Given the description of an element on the screen output the (x, y) to click on. 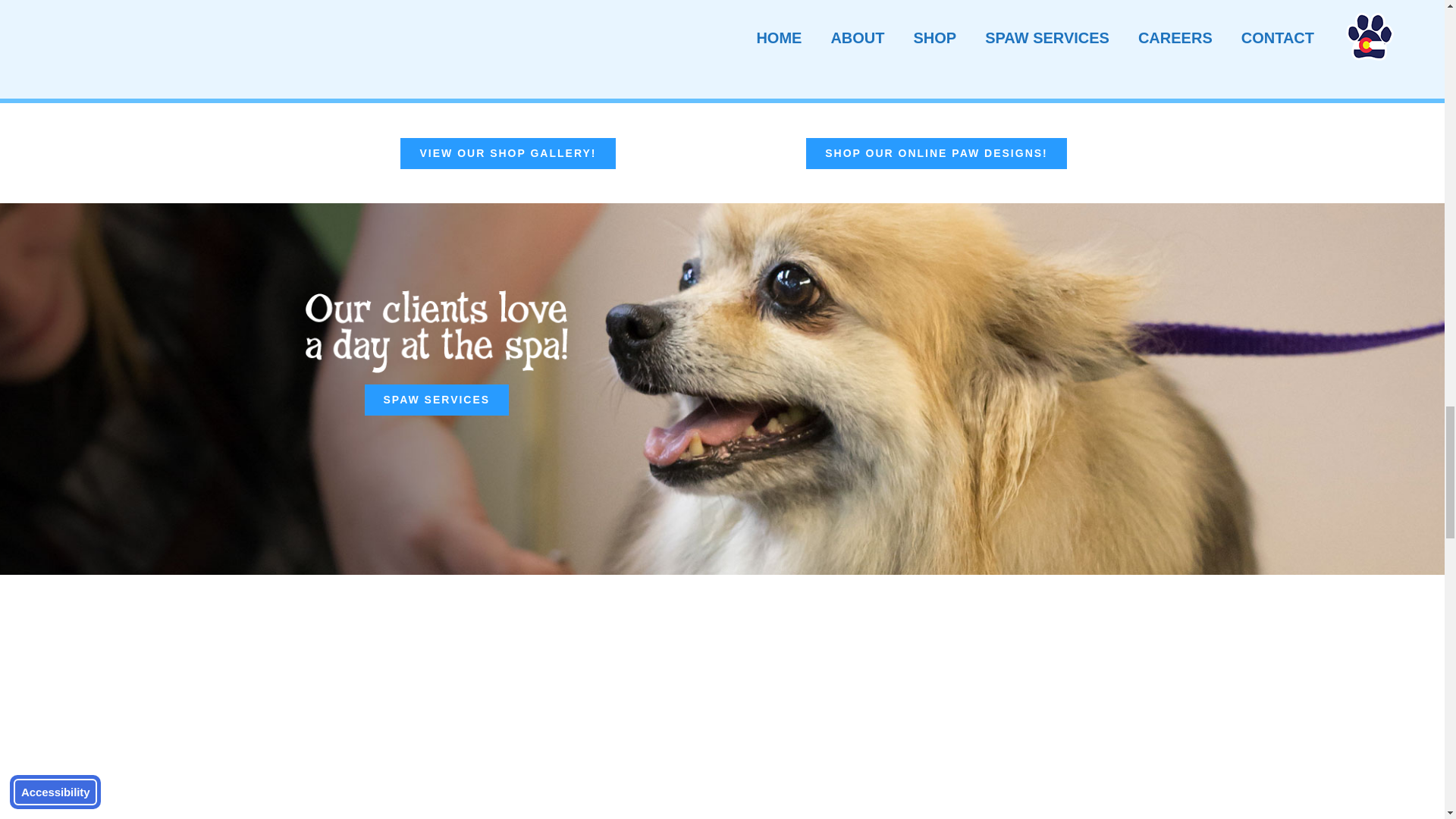
SPAW SERVICES (437, 399)
VIEW OUR SHOP GALLERY! (507, 153)
SHOP OUR ONLINE PAW DESIGNS! (936, 153)
